Given the description of an element on the screen output the (x, y) to click on. 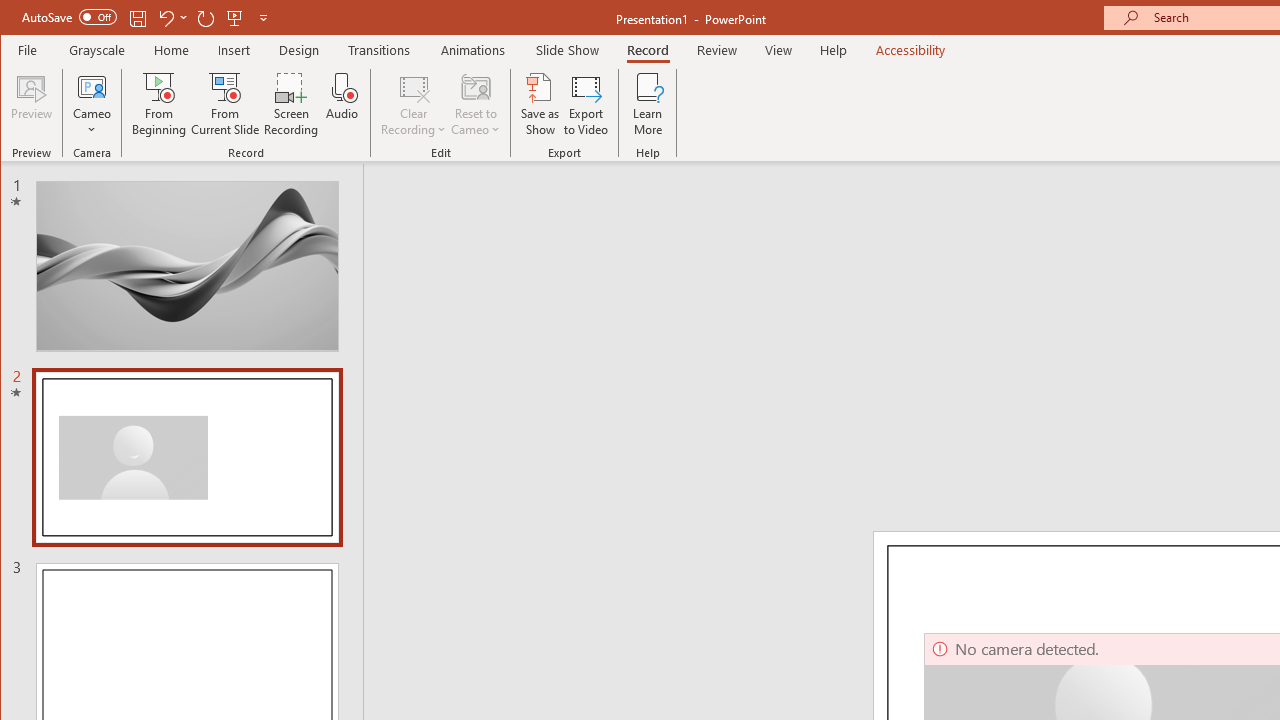
Grayscale (97, 50)
Learn More (648, 104)
Reset to Cameo (476, 104)
Clear Recording (413, 104)
Screen Recording (291, 104)
